Given the description of an element on the screen output the (x, y) to click on. 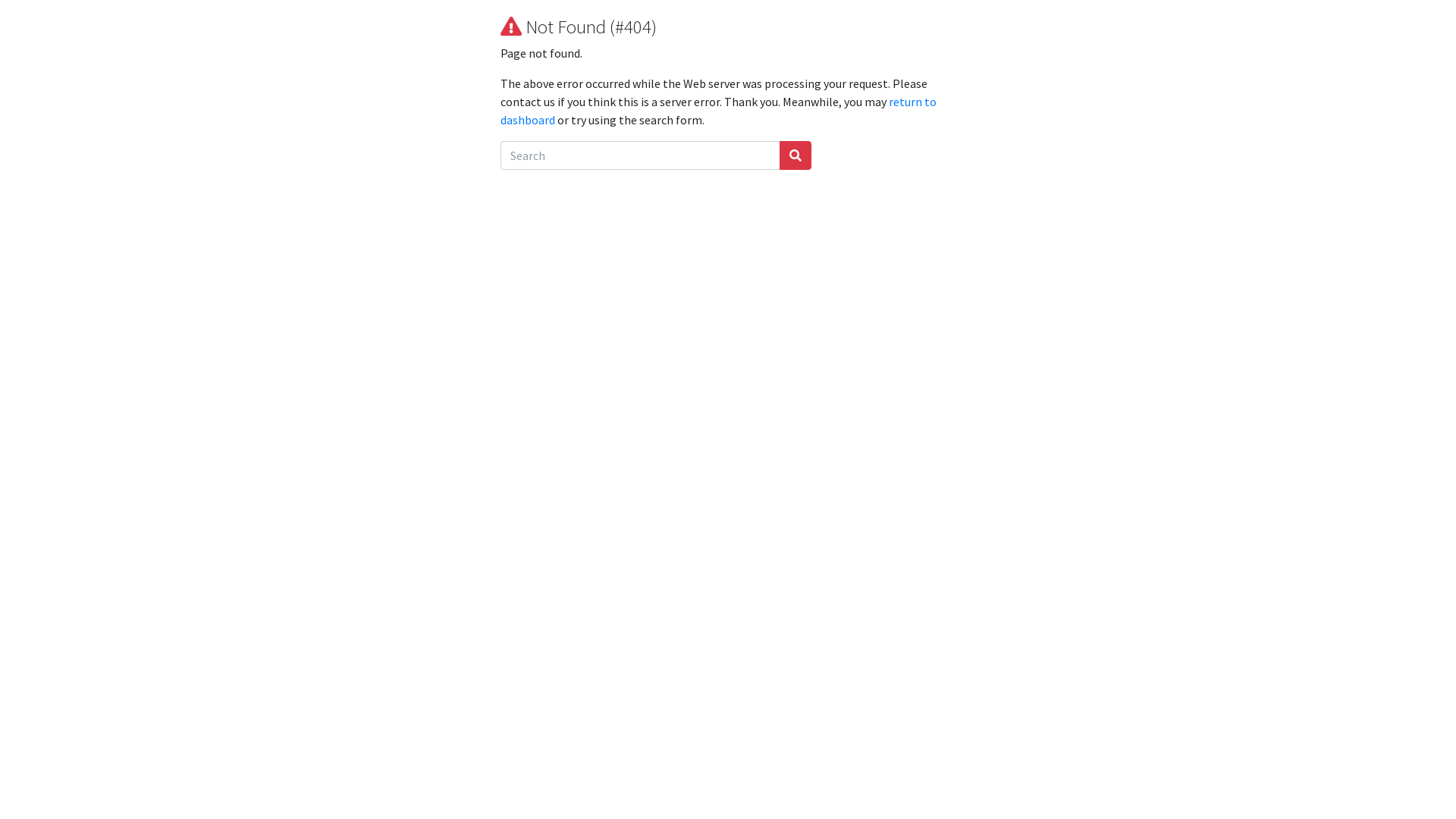
return to dashboard Element type: text (718, 110)
